Given the description of an element on the screen output the (x, y) to click on. 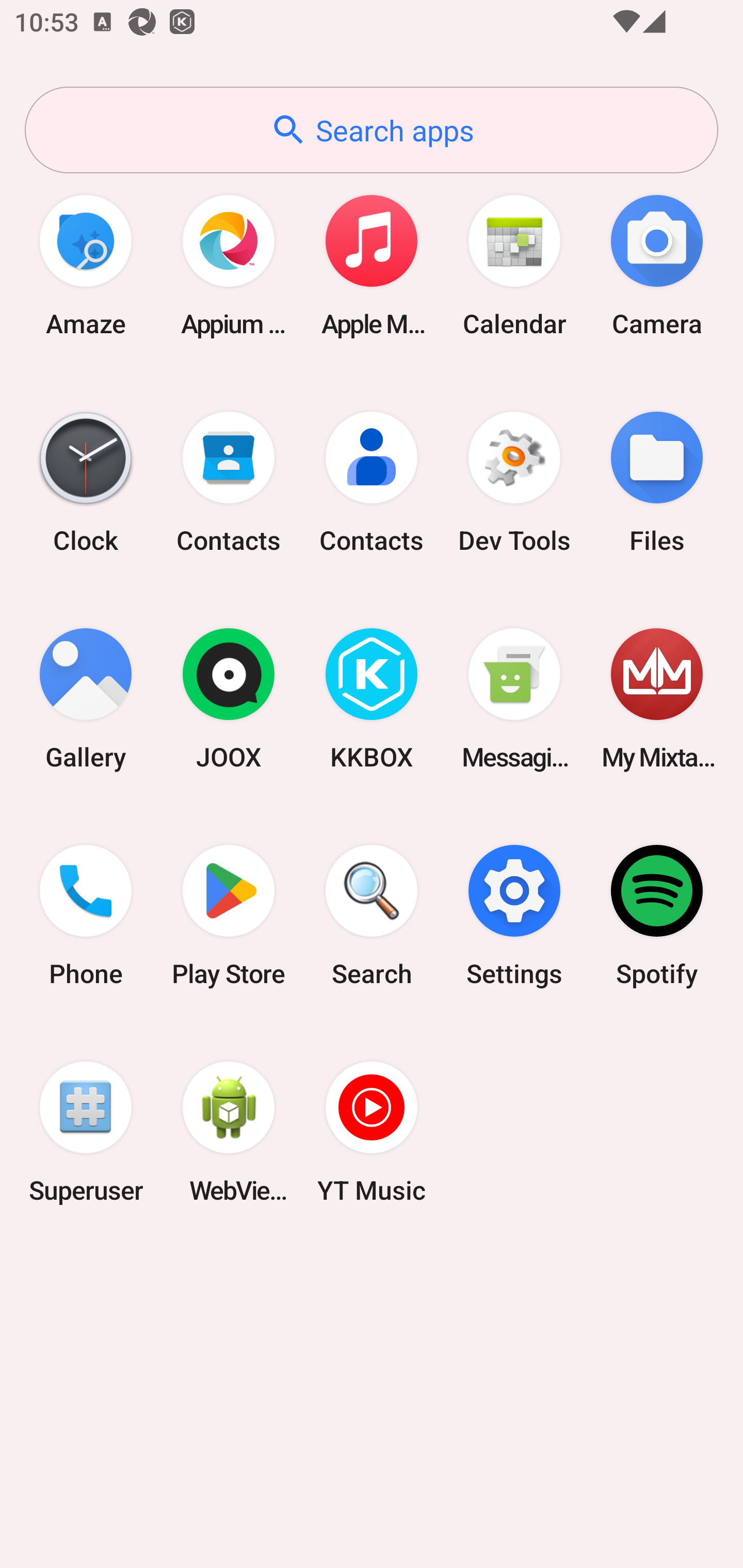
  Search apps (371, 130)
Amaze (85, 264)
Appium Settings (228, 264)
Apple Music (371, 264)
Calendar (514, 264)
Camera (656, 264)
Clock (85, 482)
Contacts (228, 482)
Contacts (371, 482)
Dev Tools (514, 482)
Files (656, 482)
Gallery (85, 699)
JOOX (228, 699)
KKBOX (371, 699)
Messaging (514, 699)
My Mixtapez (656, 699)
Phone (85, 915)
Play Store (228, 915)
Search (371, 915)
Settings (514, 915)
Spotify (656, 915)
Superuser (85, 1131)
WebView Browser Tester (228, 1131)
YT Music (371, 1131)
